Given the description of an element on the screen output the (x, y) to click on. 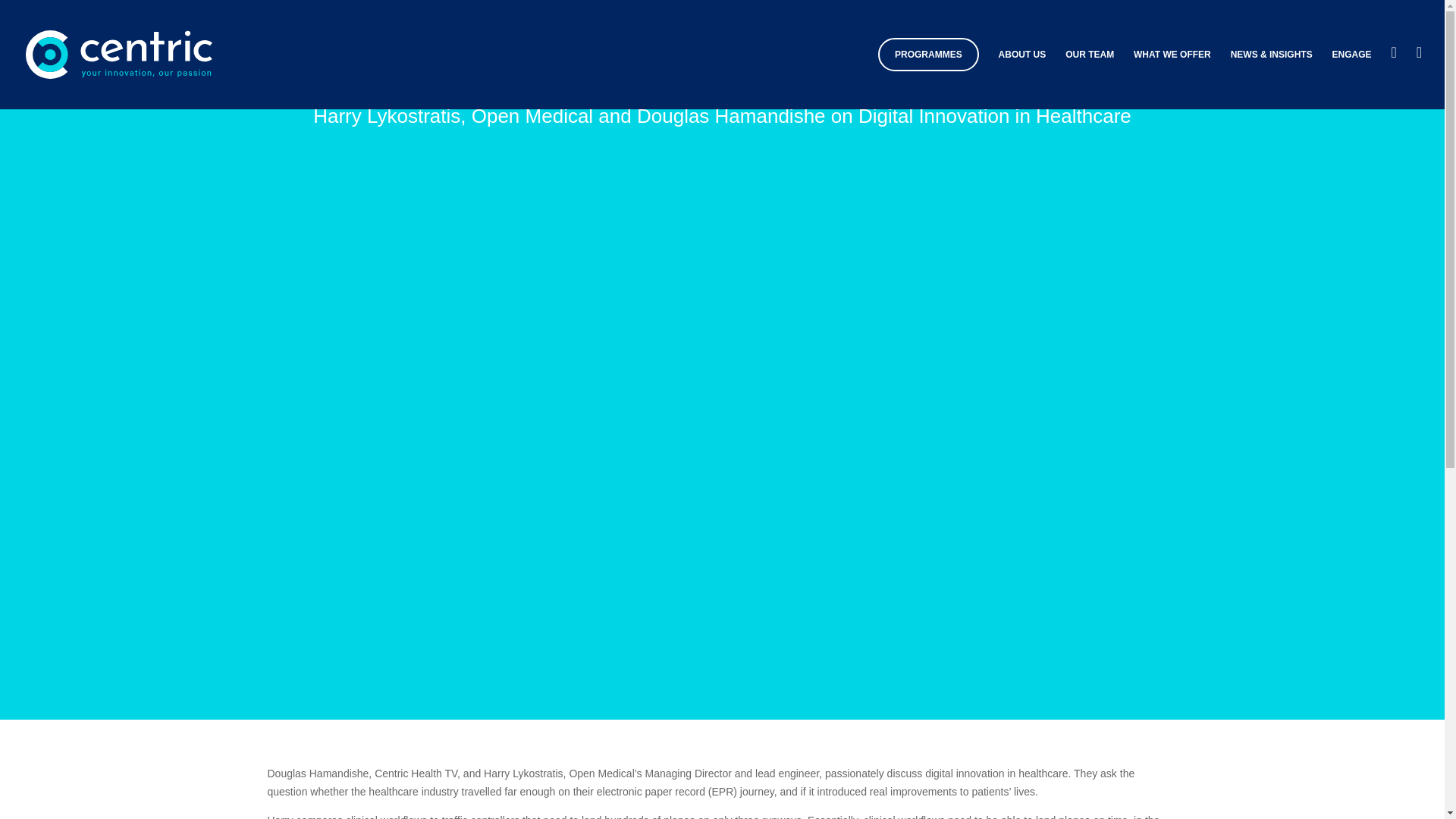
PROGRAMMES (927, 54)
ENGAGE (1351, 54)
OUR TEAM (1089, 54)
ABOUT US (1022, 54)
WHAT WE OFFER (1172, 54)
